Given the description of an element on the screen output the (x, y) to click on. 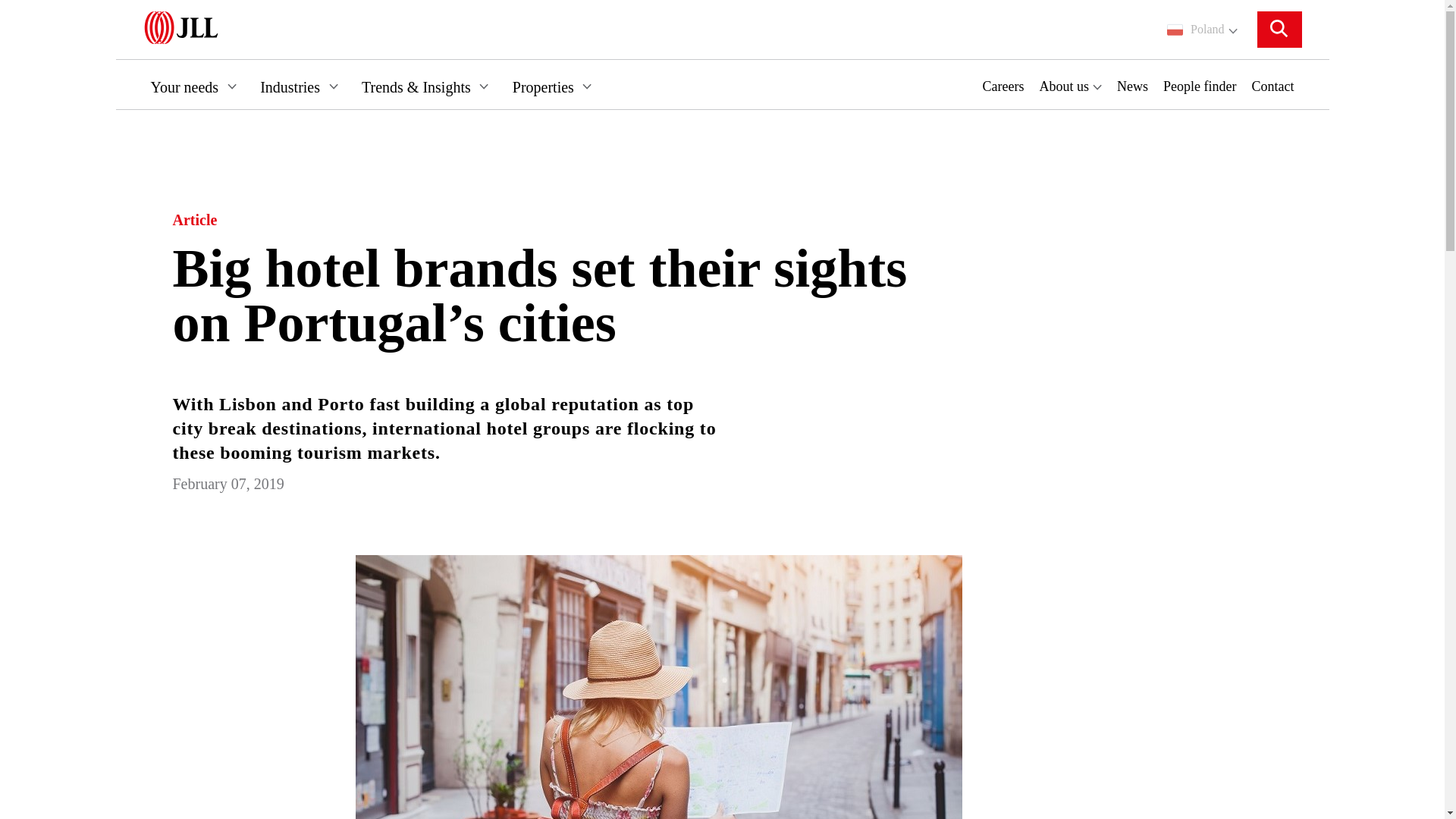
Poland (1201, 29)
